Given the description of an element on the screen output the (x, y) to click on. 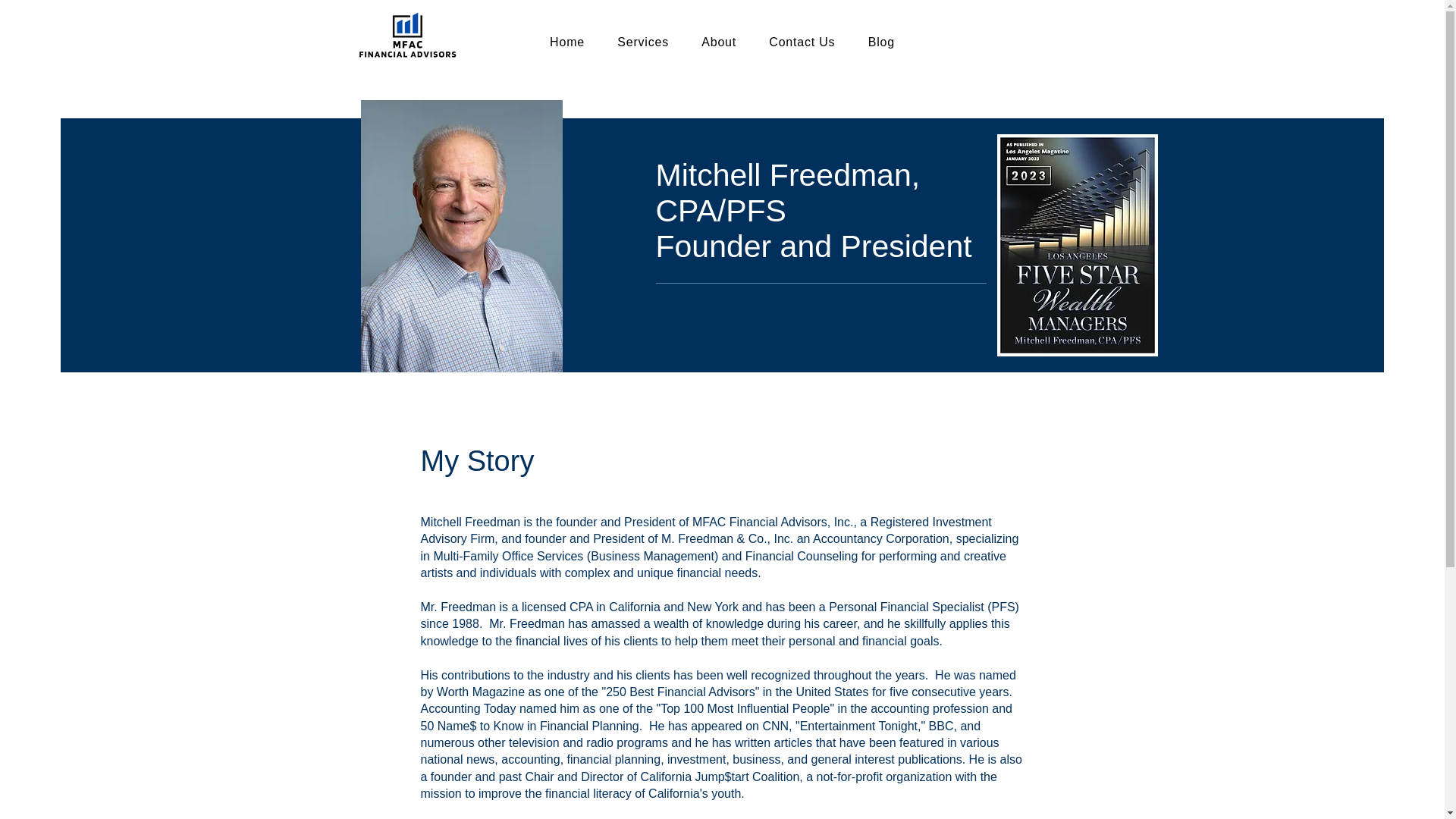
About (718, 41)
Home (567, 41)
Blog (880, 41)
Contact Us (801, 41)
Services (643, 41)
